Given the description of an element on the screen output the (x, y) to click on. 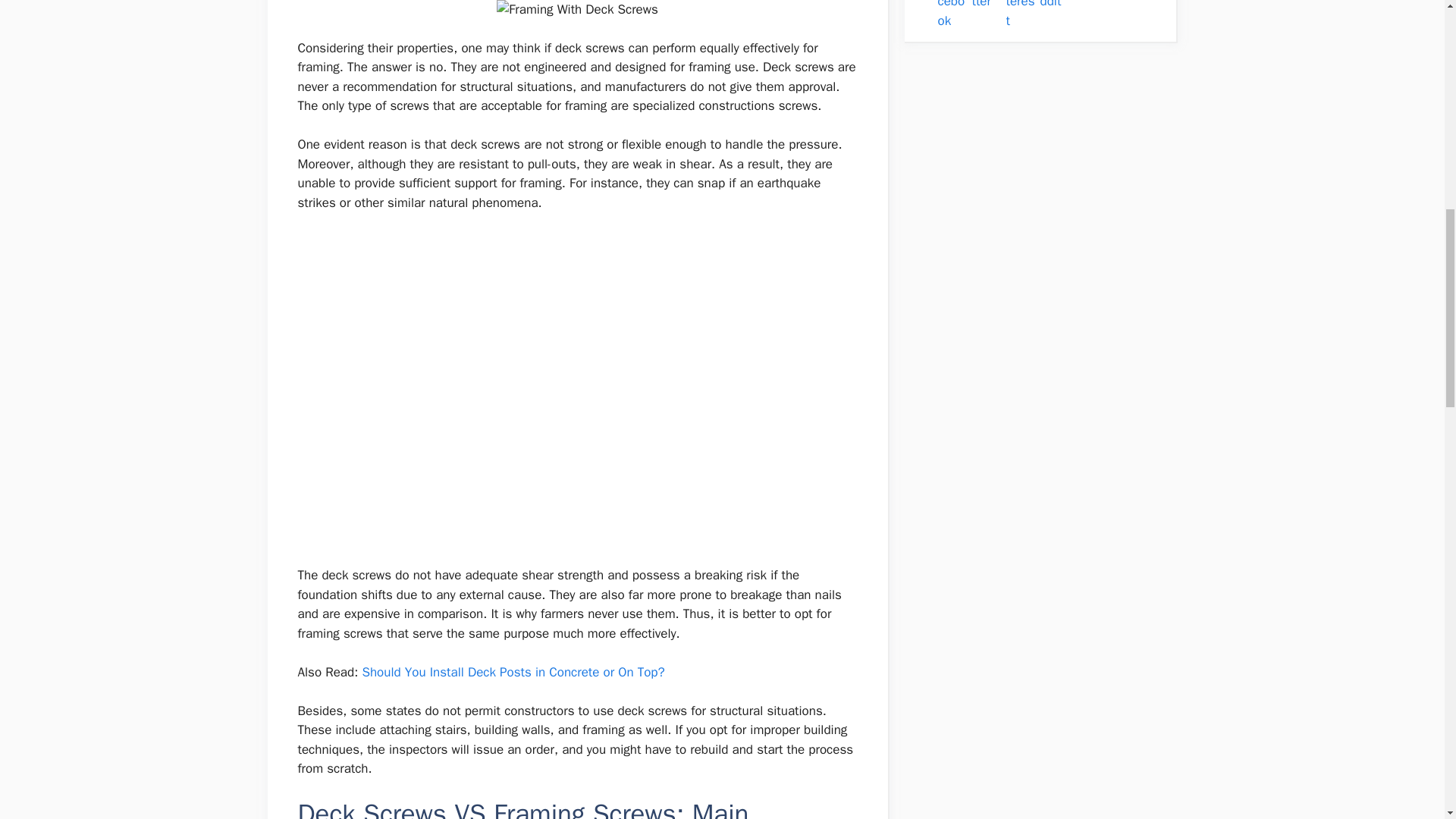
Twitter (987, 5)
Pinterest (1020, 15)
Facebook (952, 15)
Should You Install Deck Posts in Concrete or On Top? (512, 672)
Reddit (1055, 5)
